Given the description of an element on the screen output the (x, y) to click on. 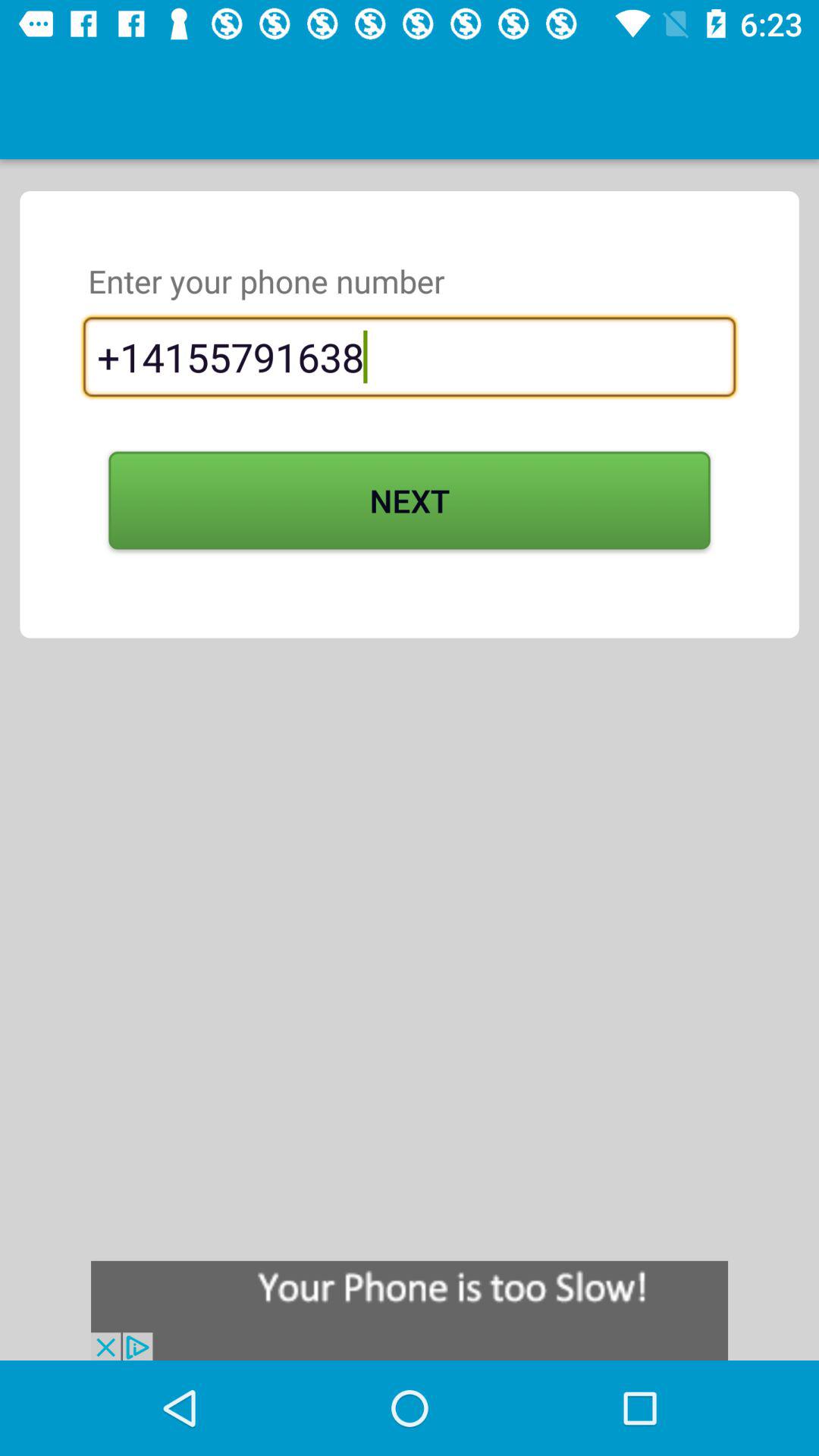
click on advertisement (409, 1310)
